Given the description of an element on the screen output the (x, y) to click on. 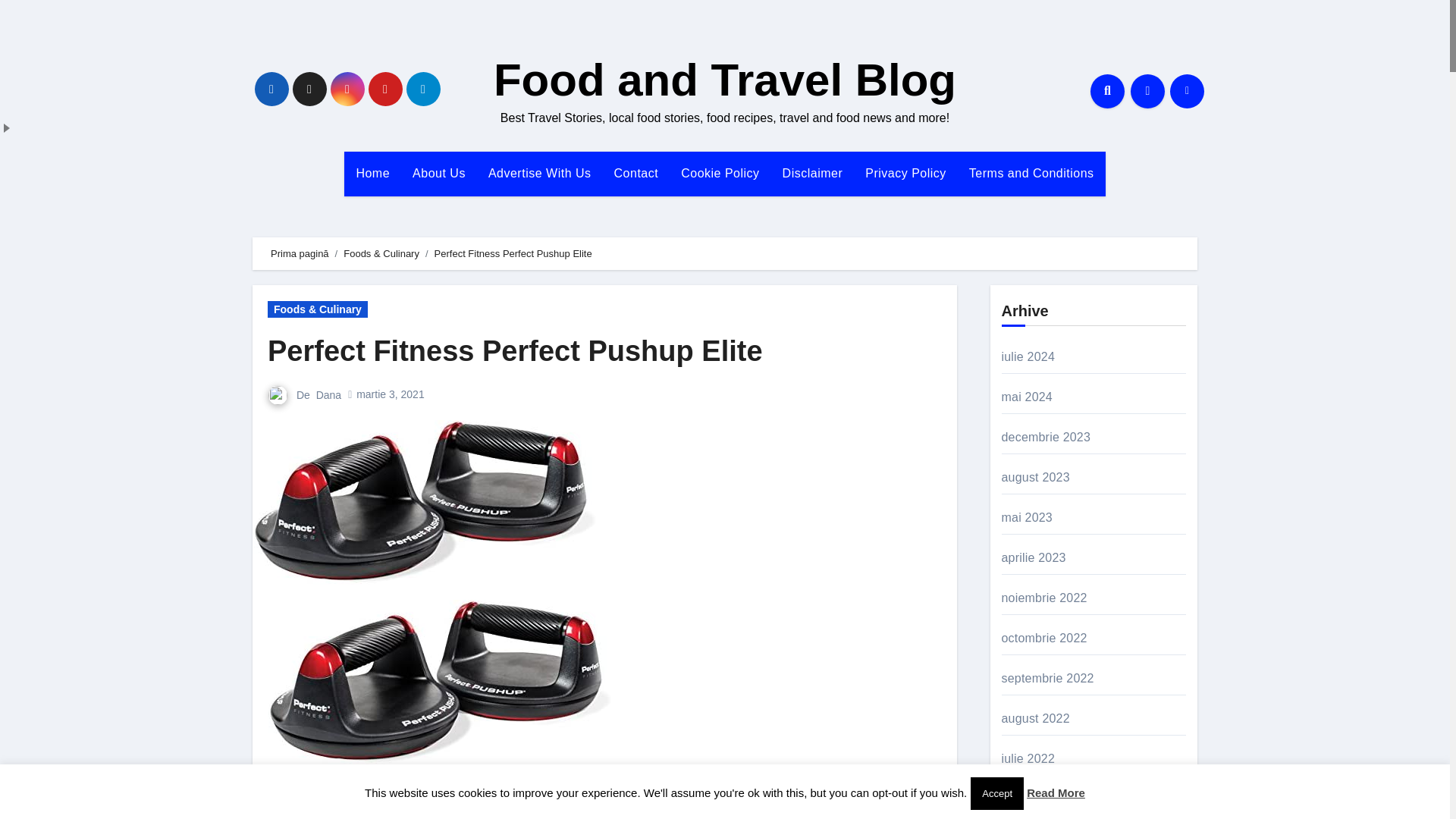
Dana (327, 394)
Terms and Conditions (1031, 173)
Perfect Fitness Perfect Pushup Elite (514, 350)
Food and Travel Blog (724, 79)
Cookie Policy (719, 173)
martie 3, 2021 (390, 394)
About Us (439, 173)
Advertise With Us (539, 173)
Contact (635, 173)
Disclaimer (812, 173)
Privacy Policy (905, 173)
Home (372, 173)
Home (372, 173)
